Given the description of an element on the screen output the (x, y) to click on. 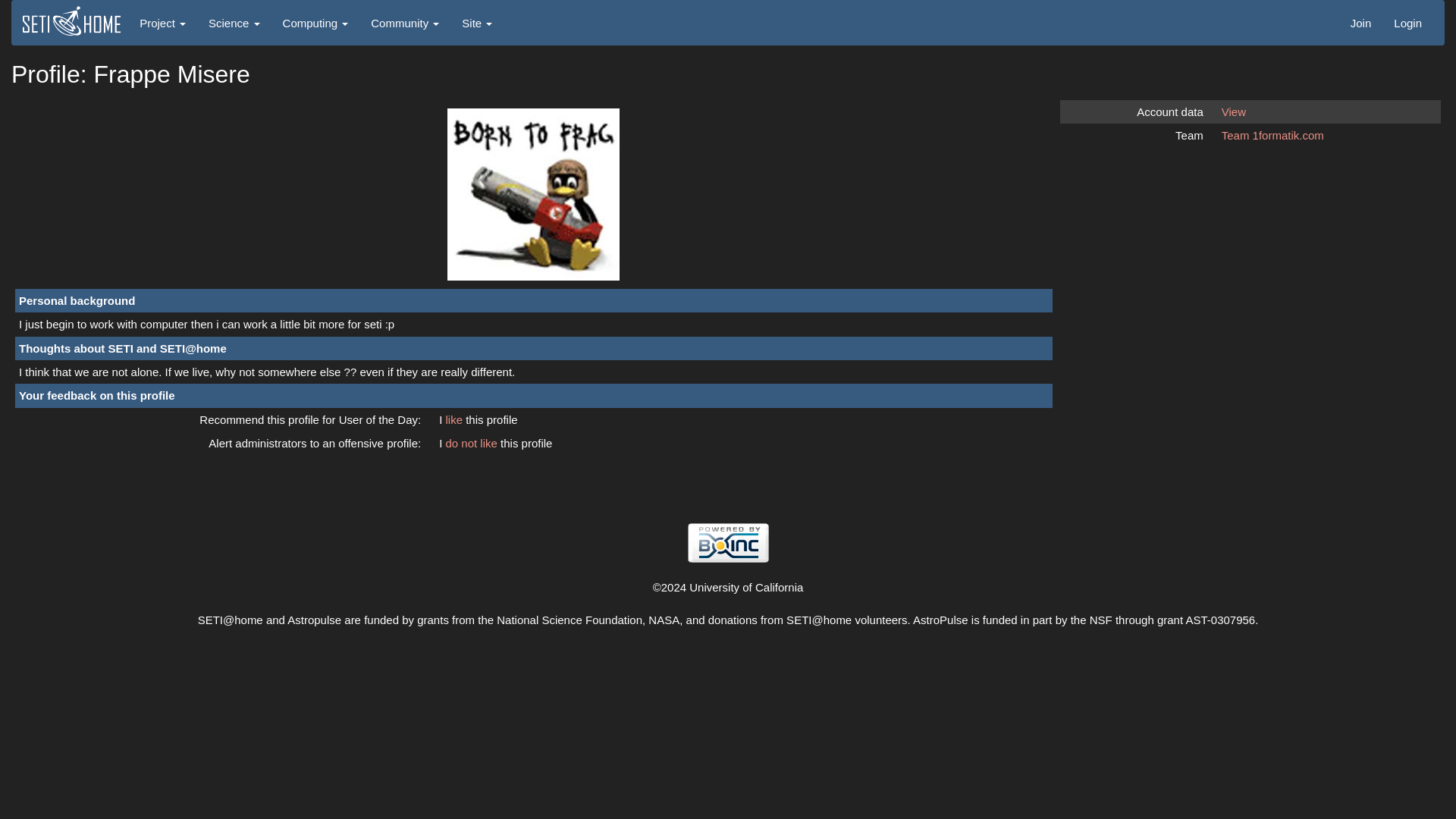
Join (1361, 22)
do not like (472, 442)
Project (162, 22)
Site (476, 22)
Science (233, 22)
Team 1formatik.com (1272, 134)
Computing (314, 22)
Login (1406, 22)
like (455, 419)
View (1233, 111)
Community (404, 22)
